Given the description of an element on the screen output the (x, y) to click on. 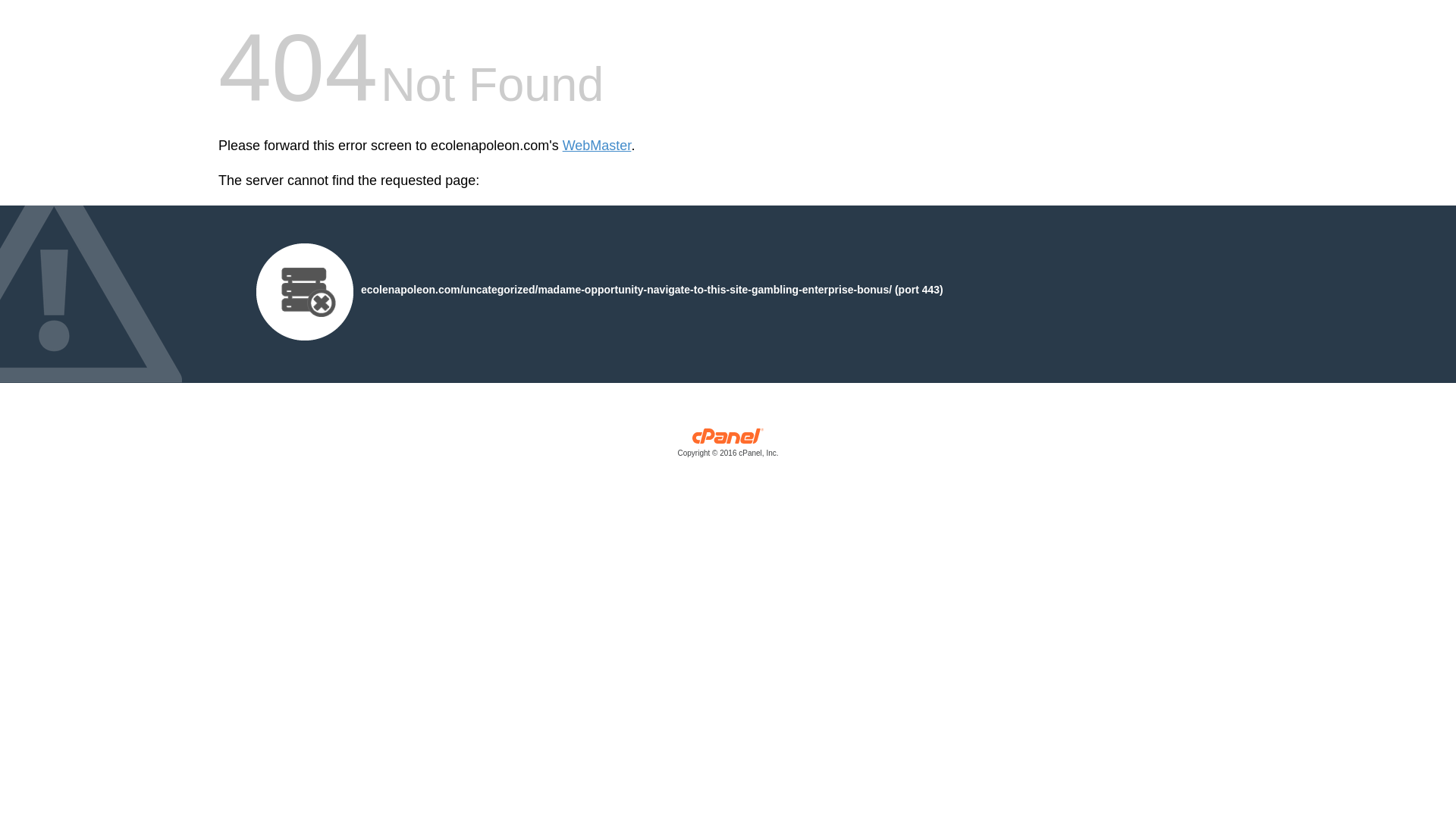
WebMaster (596, 145)
cPanel, Inc. (727, 446)
